Given the description of an element on the screen output the (x, y) to click on. 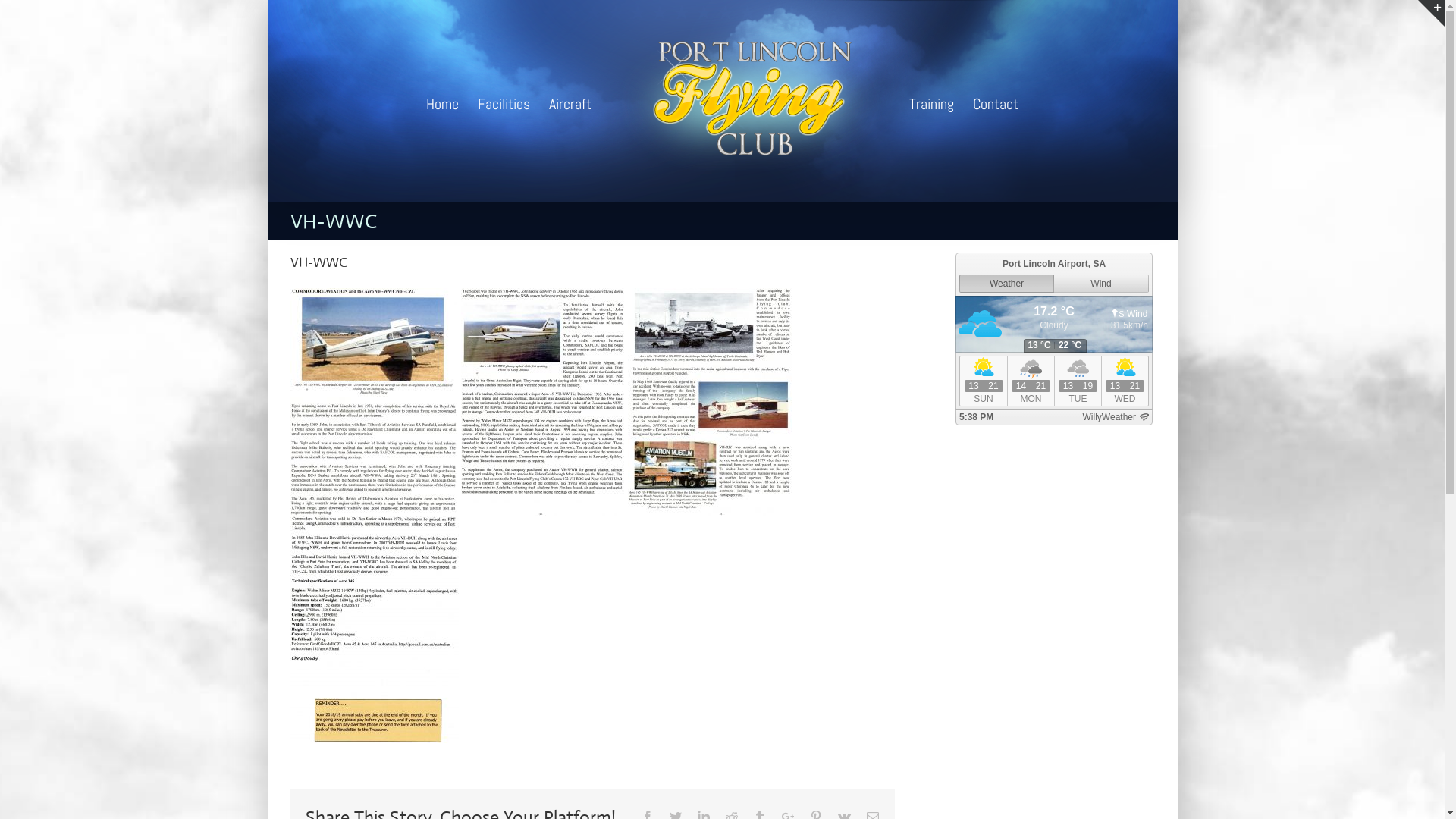
Aircraft Element type: text (570, 101)
Training Element type: text (931, 101)
forecast Element type: text (1053, 417)
Facilities Element type: text (503, 101)
Home Element type: text (442, 101)
Contact Element type: text (995, 101)
